Given the description of an element on the screen output the (x, y) to click on. 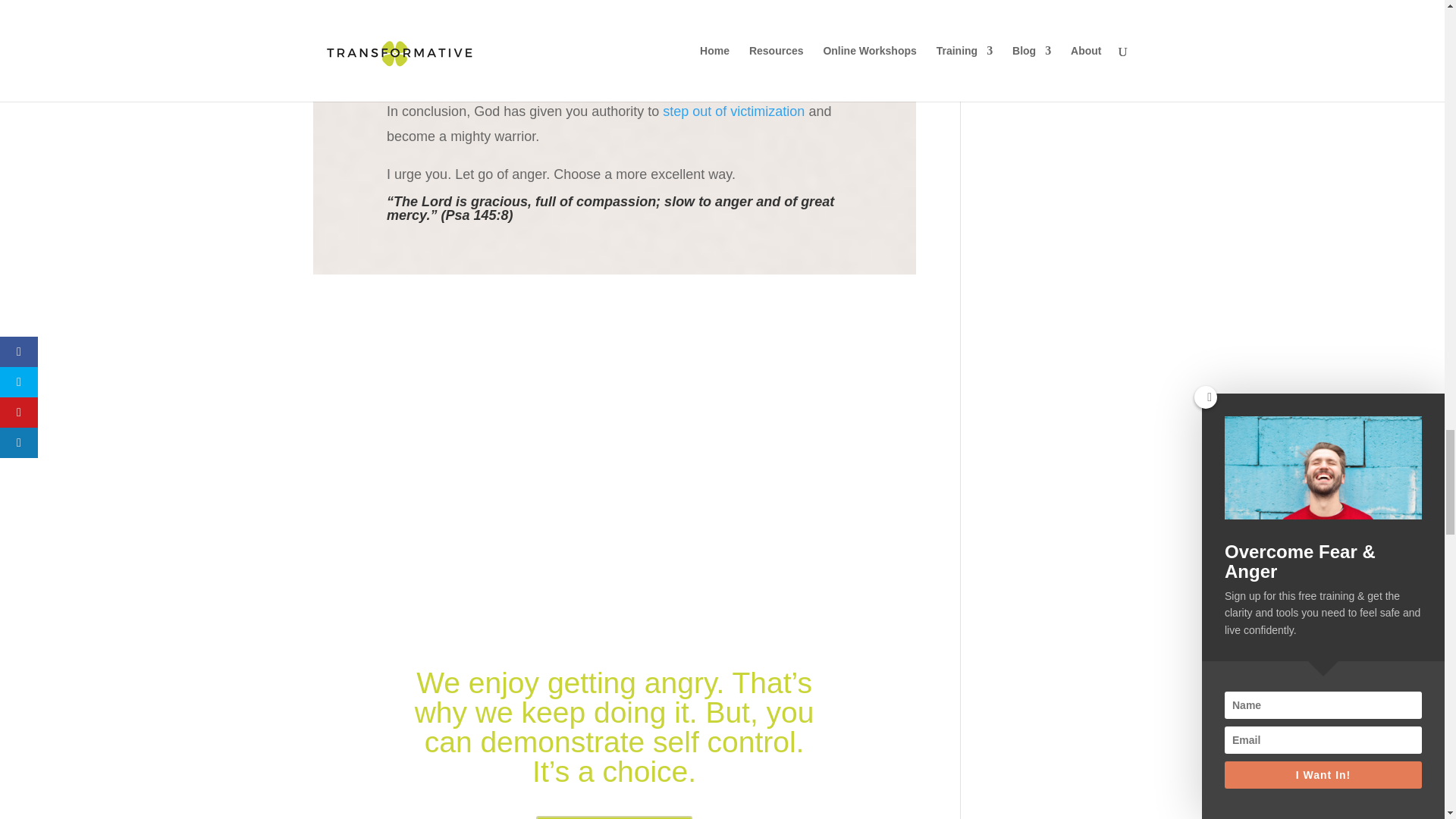
Watch on Youtube (614, 817)
step out of victimization (733, 111)
